Given the description of an element on the screen output the (x, y) to click on. 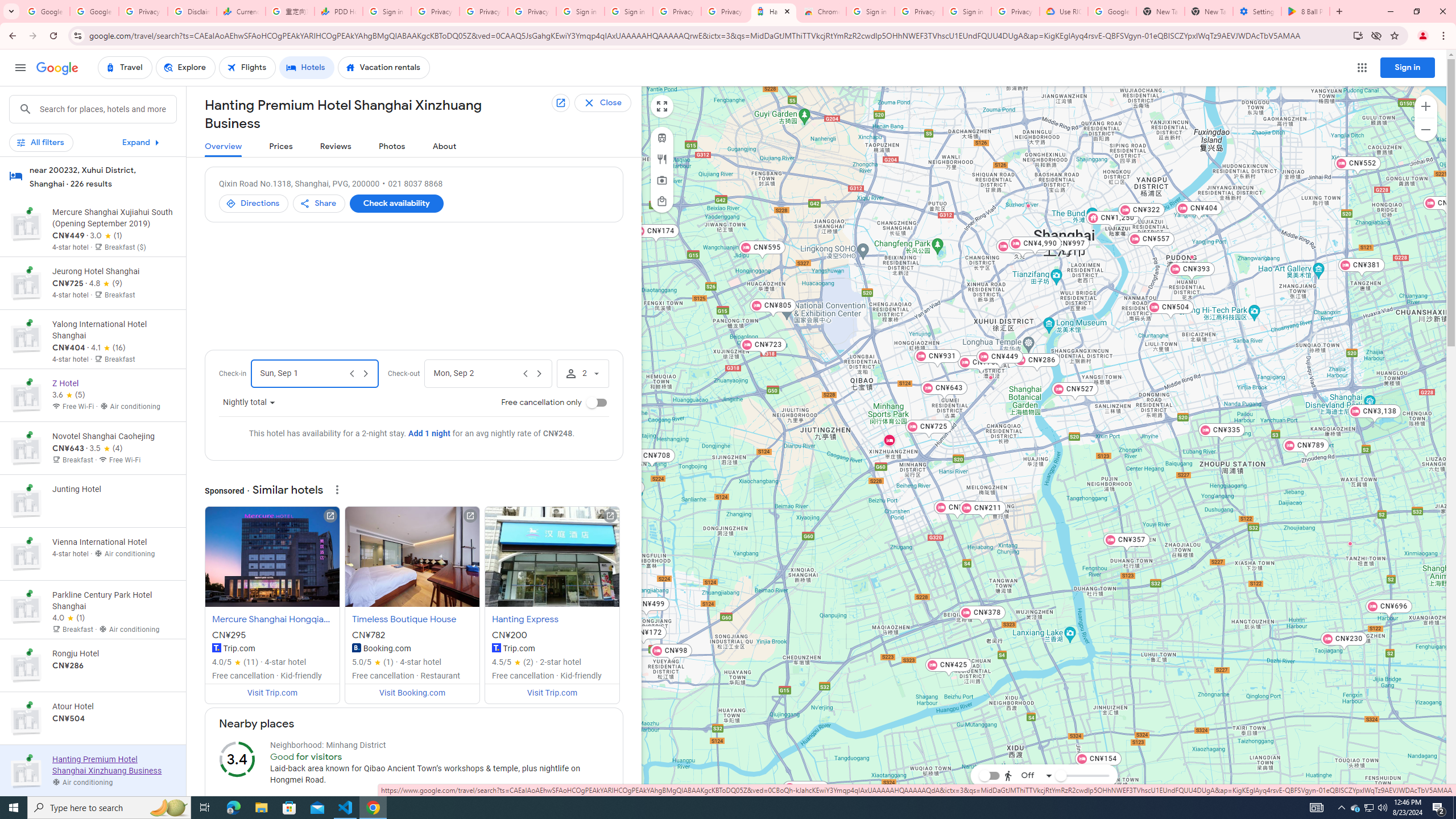
Attractions (661, 180)
Off (1027, 775)
View prices for Vienna International Hotel (113, 593)
Junting Hotel (990, 377)
